Given the description of an element on the screen output the (x, y) to click on. 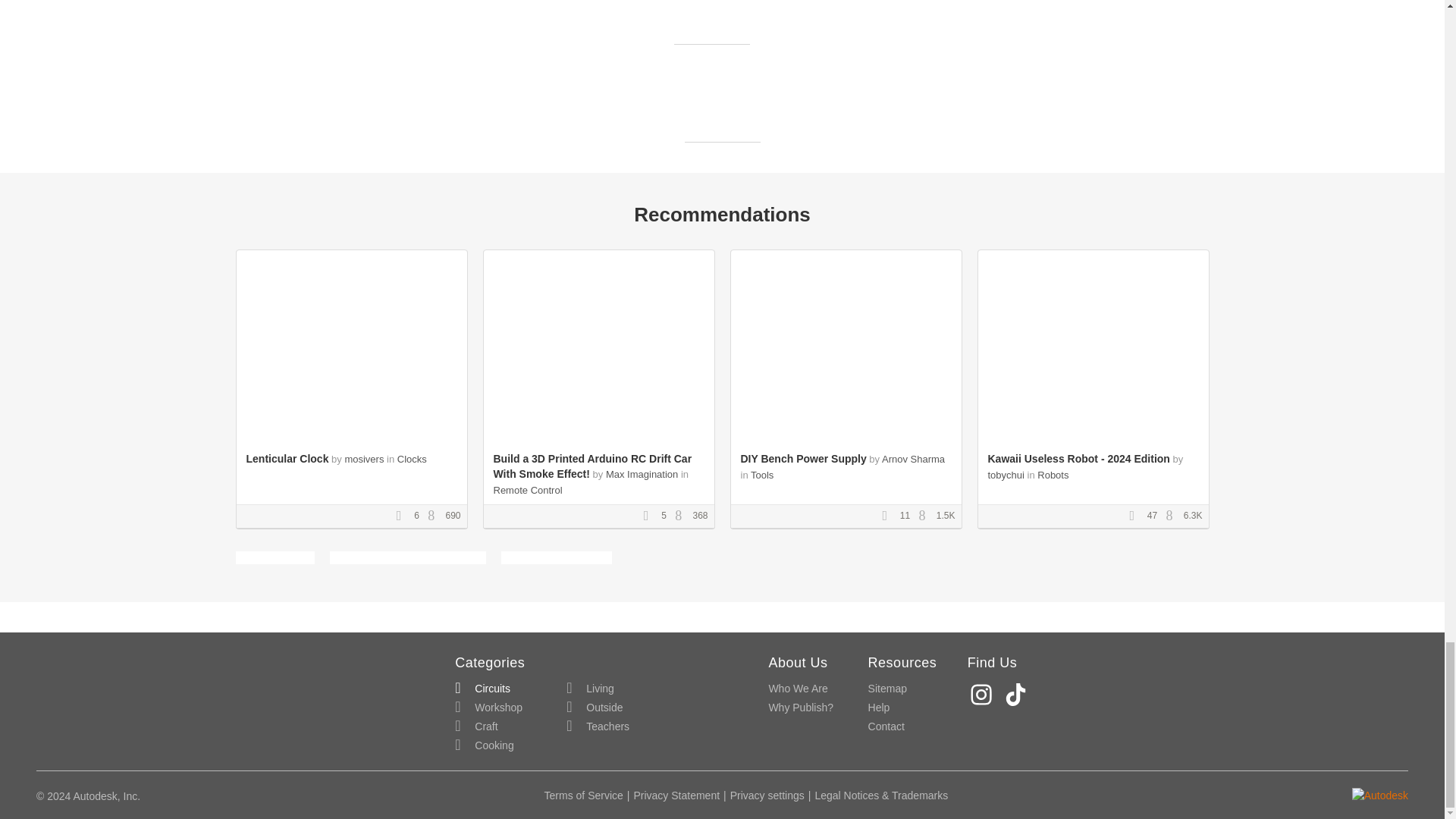
Clocks (411, 459)
Views Count (435, 516)
Kawaii Useless Robot - 2024 Edition (1078, 458)
DIY Bench Power Supply (802, 458)
Lenticular Clock (287, 458)
TikTok (1018, 694)
Tools (762, 474)
Craft (475, 726)
Favorites Count (1136, 516)
mosivers (363, 459)
Circuits (482, 688)
Favorites Count (404, 516)
Views Count (925, 516)
Robots (1052, 474)
Build a 3D Printed Arduino RC Drift Car With Smoke Effect! (592, 465)
